Given the description of an element on the screen output the (x, y) to click on. 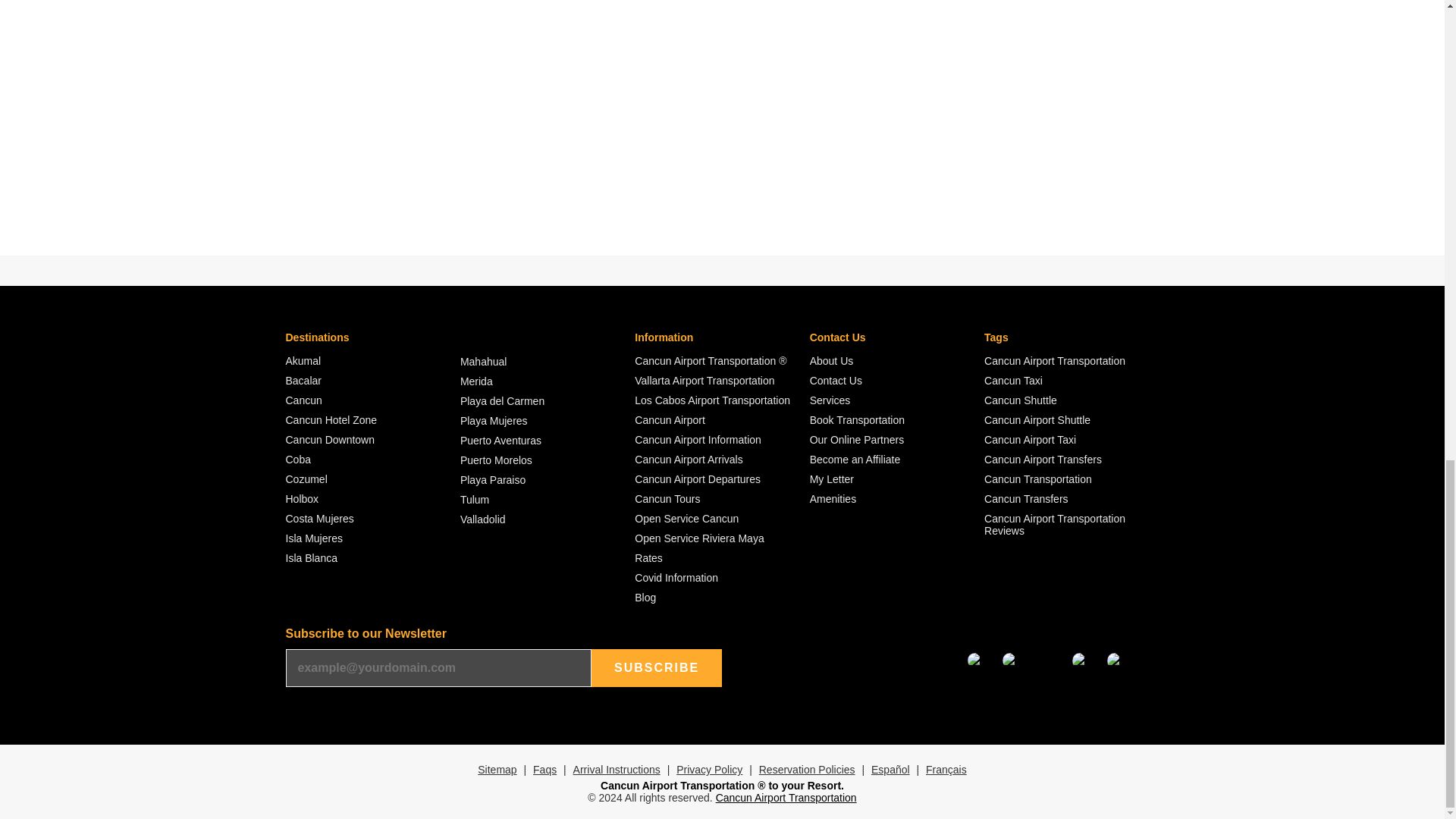
SUBSCRIBE (656, 668)
